Given the description of an element on the screen output the (x, y) to click on. 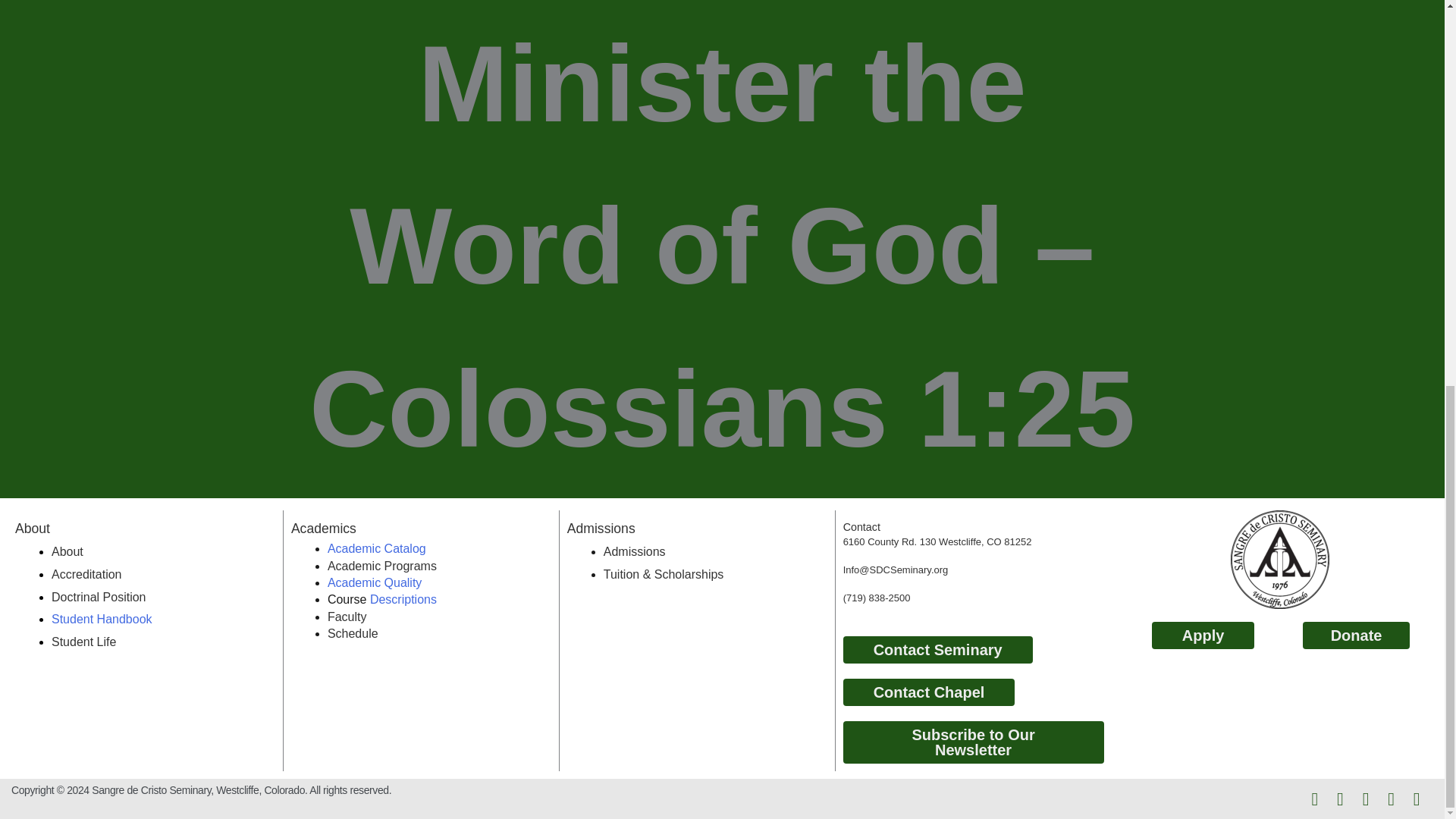
SDCS Logo Seal 2019 (1279, 559)
